Given the description of an element on the screen output the (x, y) to click on. 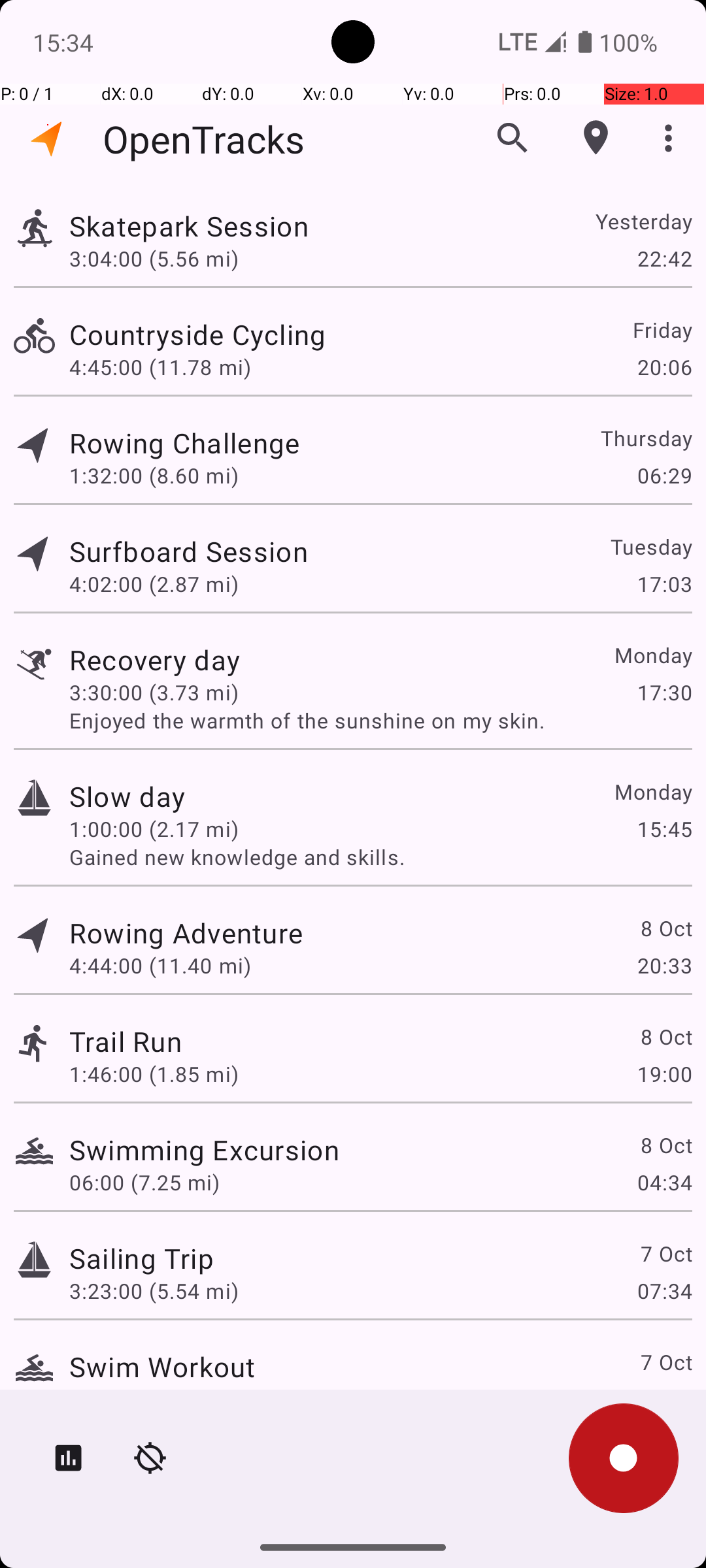
Skatepark Session Element type: android.widget.TextView (188, 225)
3:04:00 (5.56 mi) Element type: android.widget.TextView (153, 258)
22:42 Element type: android.widget.TextView (664, 258)
Countryside Cycling Element type: android.widget.TextView (197, 333)
4:45:00 (11.78 mi) Element type: android.widget.TextView (159, 366)
20:06 Element type: android.widget.TextView (664, 366)
Rowing Challenge Element type: android.widget.TextView (184, 442)
1:32:00 (8.60 mi) Element type: android.widget.TextView (153, 475)
06:29 Element type: android.widget.TextView (664, 475)
Surfboard Session Element type: android.widget.TextView (188, 550)
4:02:00 (2.87 mi) Element type: android.widget.TextView (153, 583)
17:03 Element type: android.widget.TextView (664, 583)
Recovery day Element type: android.widget.TextView (154, 659)
3:30:00 (3.73 mi) Element type: android.widget.TextView (153, 692)
17:30 Element type: android.widget.TextView (664, 692)
Enjoyed the warmth of the sunshine on my skin. Element type: android.widget.TextView (380, 720)
Slow day Element type: android.widget.TextView (126, 795)
1:00:00 (2.17 mi) Element type: android.widget.TextView (153, 828)
15:45 Element type: android.widget.TextView (664, 828)
Gained new knowledge and skills. Element type: android.widget.TextView (380, 856)
Rowing Adventure Element type: android.widget.TextView (185, 932)
4:44:00 (11.40 mi) Element type: android.widget.TextView (159, 965)
20:33 Element type: android.widget.TextView (664, 965)
Trail Run Element type: android.widget.TextView (125, 1040)
1:46:00 (1.85 mi) Element type: android.widget.TextView (153, 1073)
Swimming Excursion Element type: android.widget.TextView (203, 1149)
06:00 (7.25 mi) Element type: android.widget.TextView (144, 1182)
04:34 Element type: android.widget.TextView (664, 1182)
Sailing Trip Element type: android.widget.TextView (141, 1257)
3:23:00 (5.54 mi) Element type: android.widget.TextView (153, 1290)
07:34 Element type: android.widget.TextView (664, 1290)
Swim Workout Element type: android.widget.TextView (162, 1366)
2:13:00 (8.16 mi) Element type: android.widget.TextView (153, 1399)
03:24 Element type: android.widget.TextView (664, 1399)
